Given the description of an element on the screen output the (x, y) to click on. 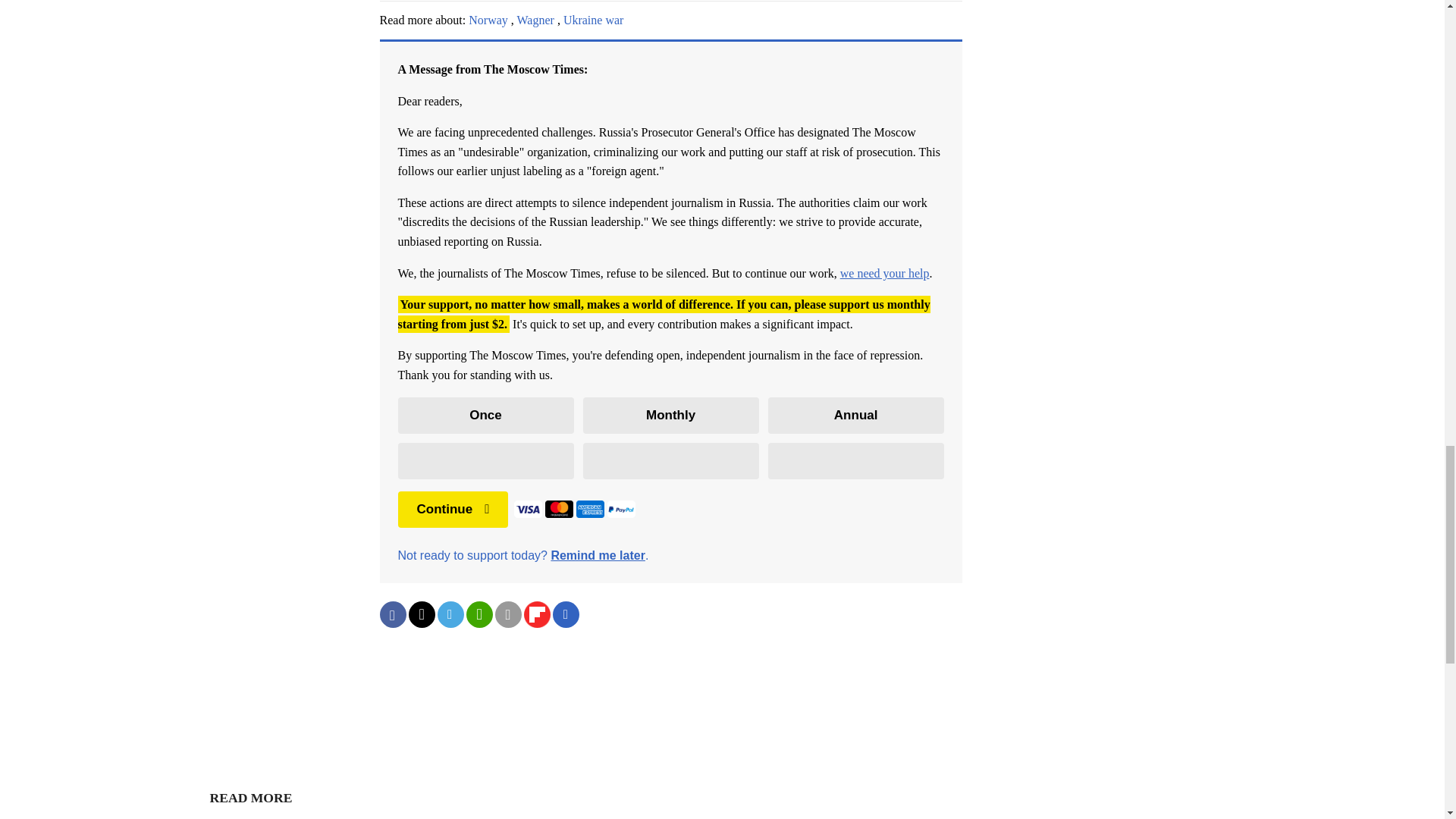
we need your help (885, 273)
Share on Telegram (449, 614)
Wagner (535, 19)
Share on Facebook (392, 614)
Ukraine war (593, 19)
Norway (488, 19)
Share on Twitter (420, 614)
